Given the description of an element on the screen output the (x, y) to click on. 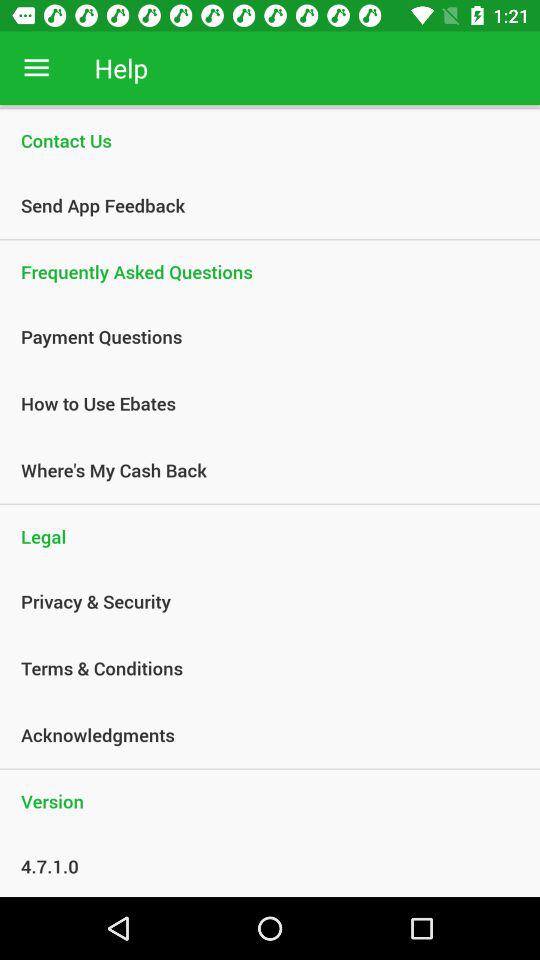
flip until send app feedback icon (259, 205)
